Given the description of an element on the screen output the (x, y) to click on. 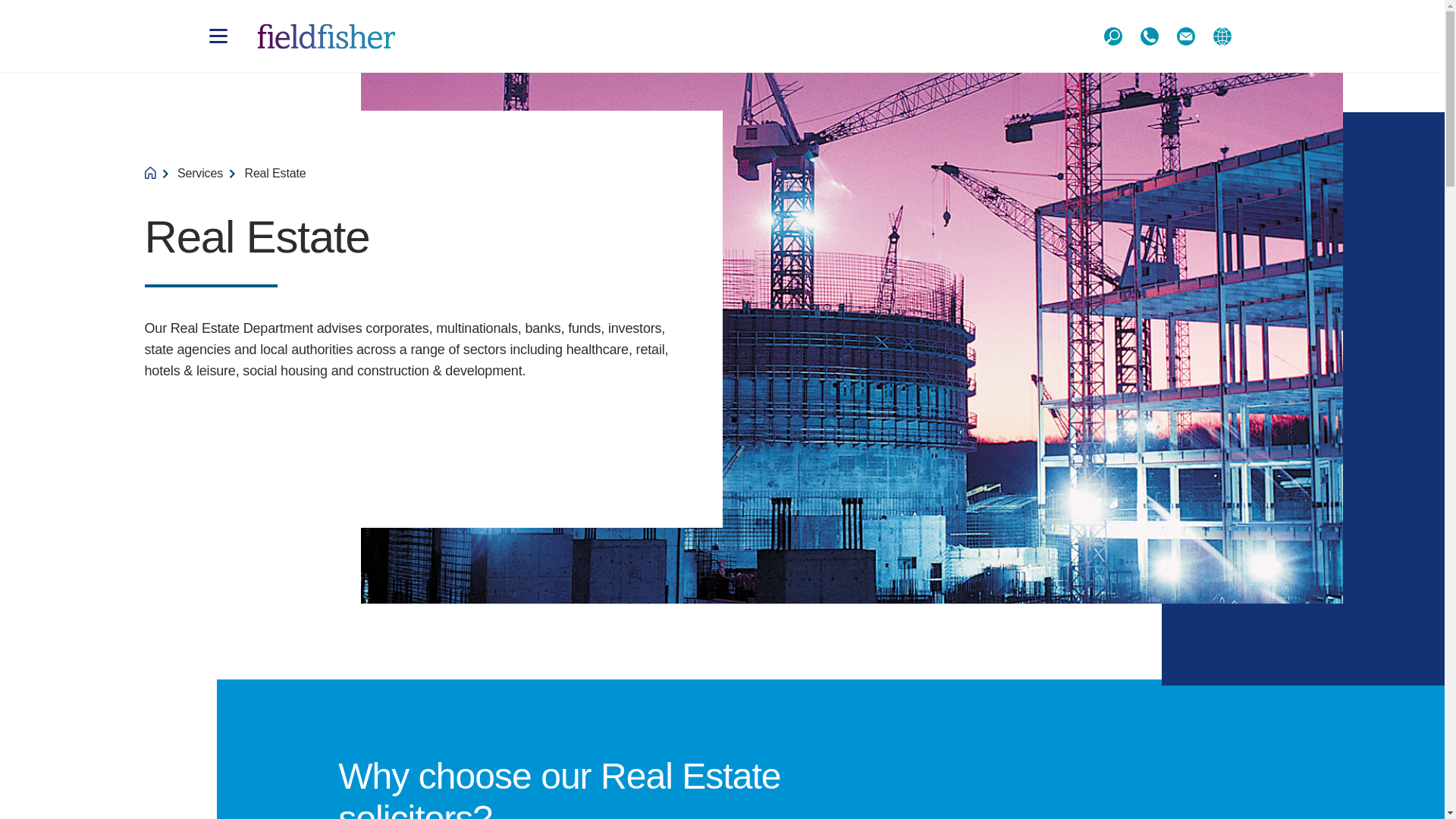
Select language (1222, 36)
Contact (1185, 36)
Contact (1149, 36)
Search (1112, 36)
Services (199, 172)
